Given the description of an element on the screen output the (x, y) to click on. 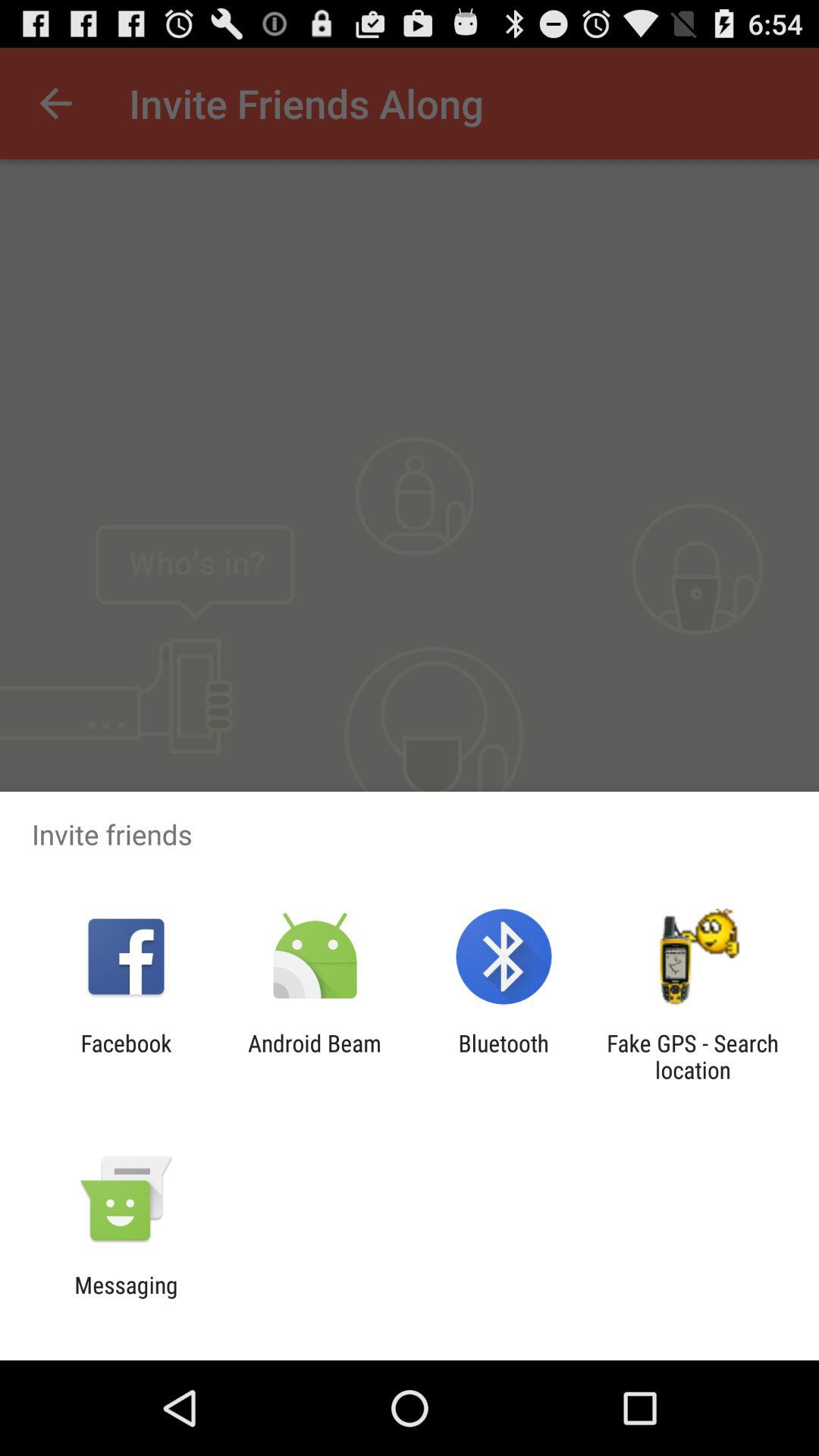
launch app to the left of the bluetooth item (314, 1056)
